Given the description of an element on the screen output the (x, y) to click on. 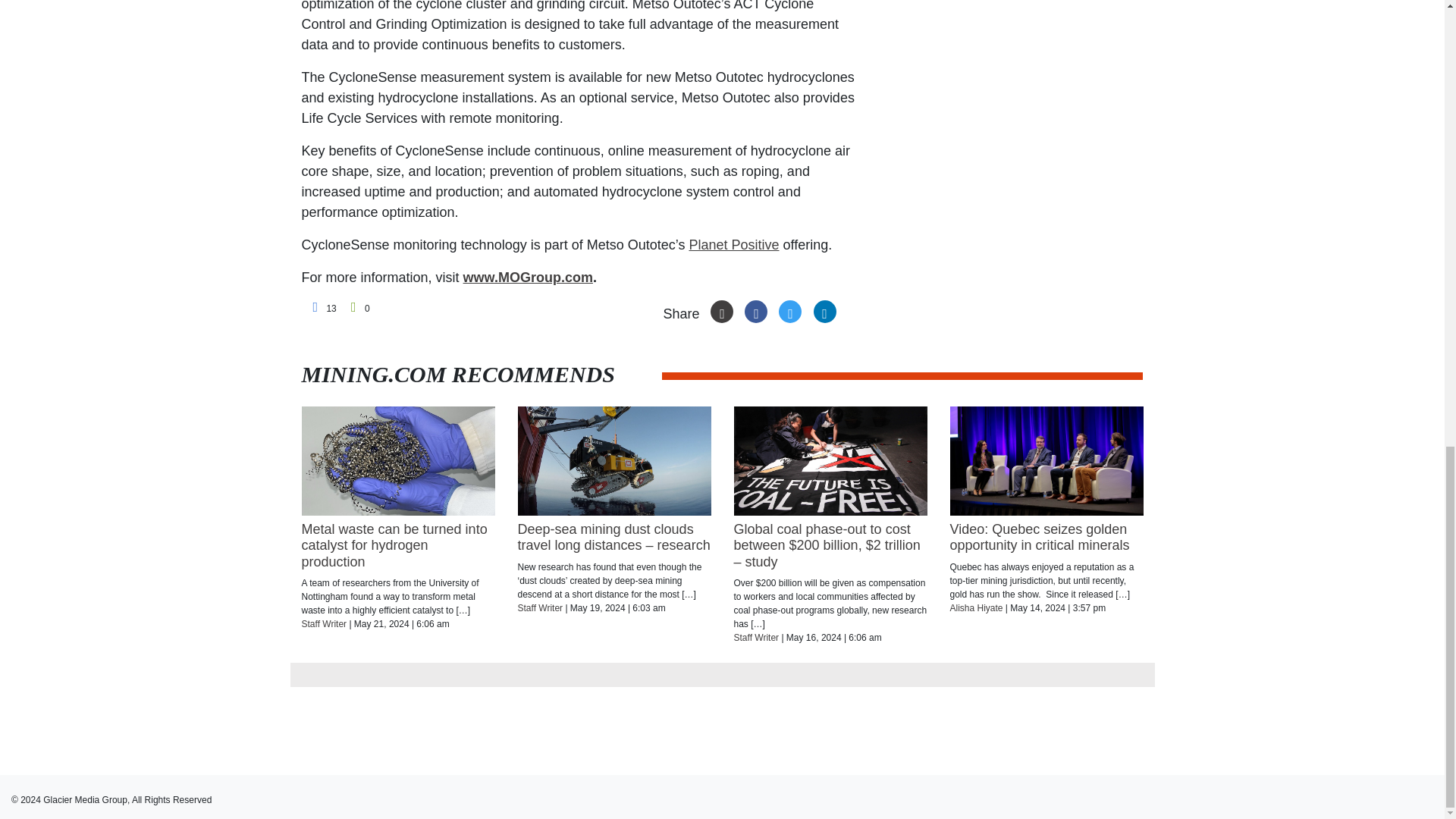
Alisha Hiyate (976, 607)
www.MOGroup.com (527, 277)
Staff Writer (755, 637)
Staff Writer (324, 624)
Planet Positive (733, 244)
Staff Writer (539, 607)
